Given the description of an element on the screen output the (x, y) to click on. 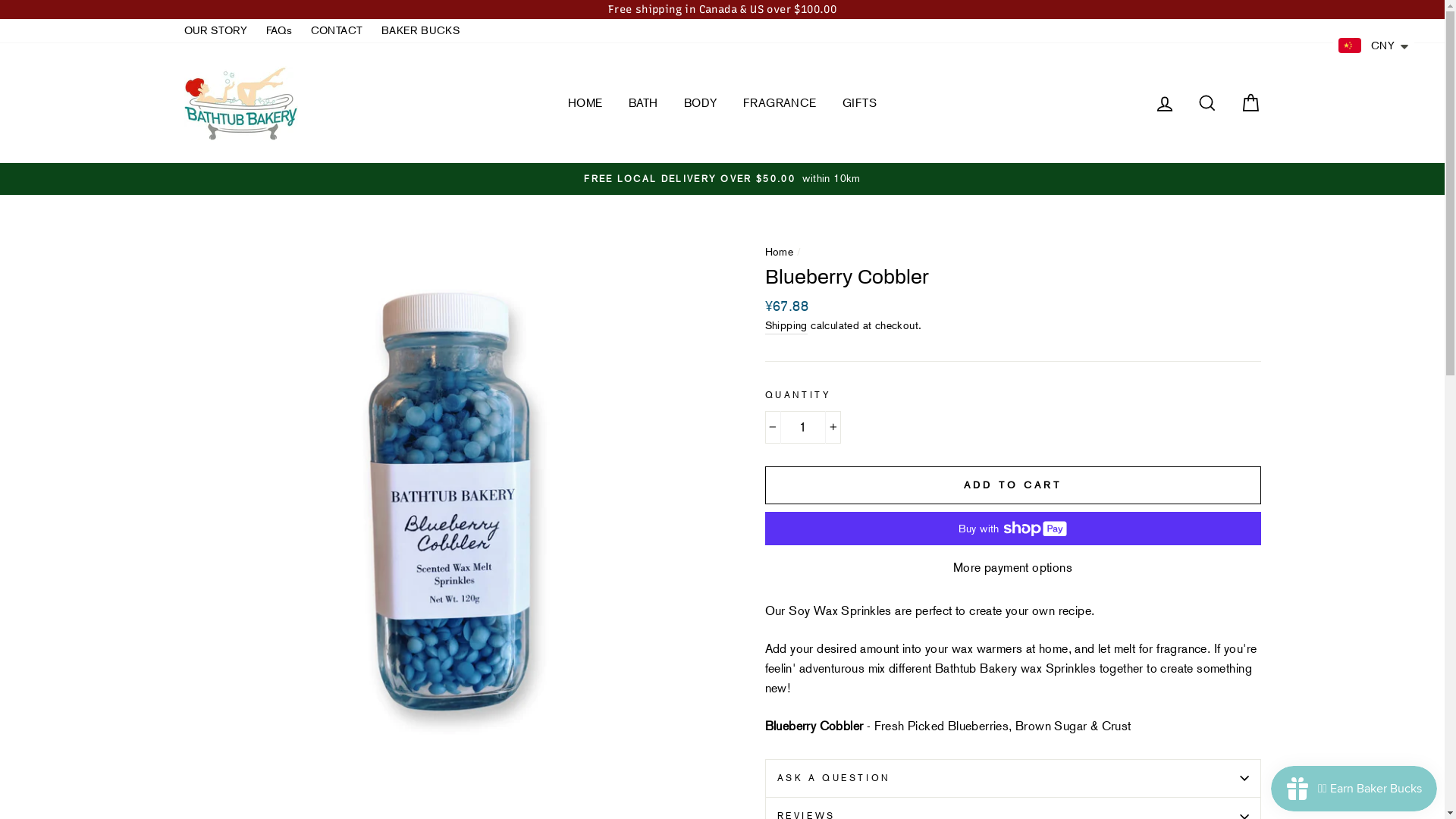
Search Element type: text (1206, 102)
Shipping Element type: text (785, 326)
FRAGRANCE Element type: text (779, 102)
HOME Element type: text (585, 102)
OUR STORY Element type: text (214, 30)
BATH Element type: text (643, 102)
Home Element type: text (778, 251)
Skip to content Element type: text (0, 0)
More payment options Element type: text (1012, 567)
CONTACT Element type: text (336, 30)
GIFTS Element type: text (859, 102)
FAQs Element type: text (279, 30)
BODY Element type: text (700, 102)
Smile.io Rewards Program Launcher Element type: hover (1353, 788)
ASK A QUESTION Element type: text (1012, 778)
ADD TO CART Element type: text (1012, 485)
Log in Element type: text (1164, 102)
+ Element type: text (832, 427)
Cart Element type: text (1249, 102)
